Given the description of an element on the screen output the (x, y) to click on. 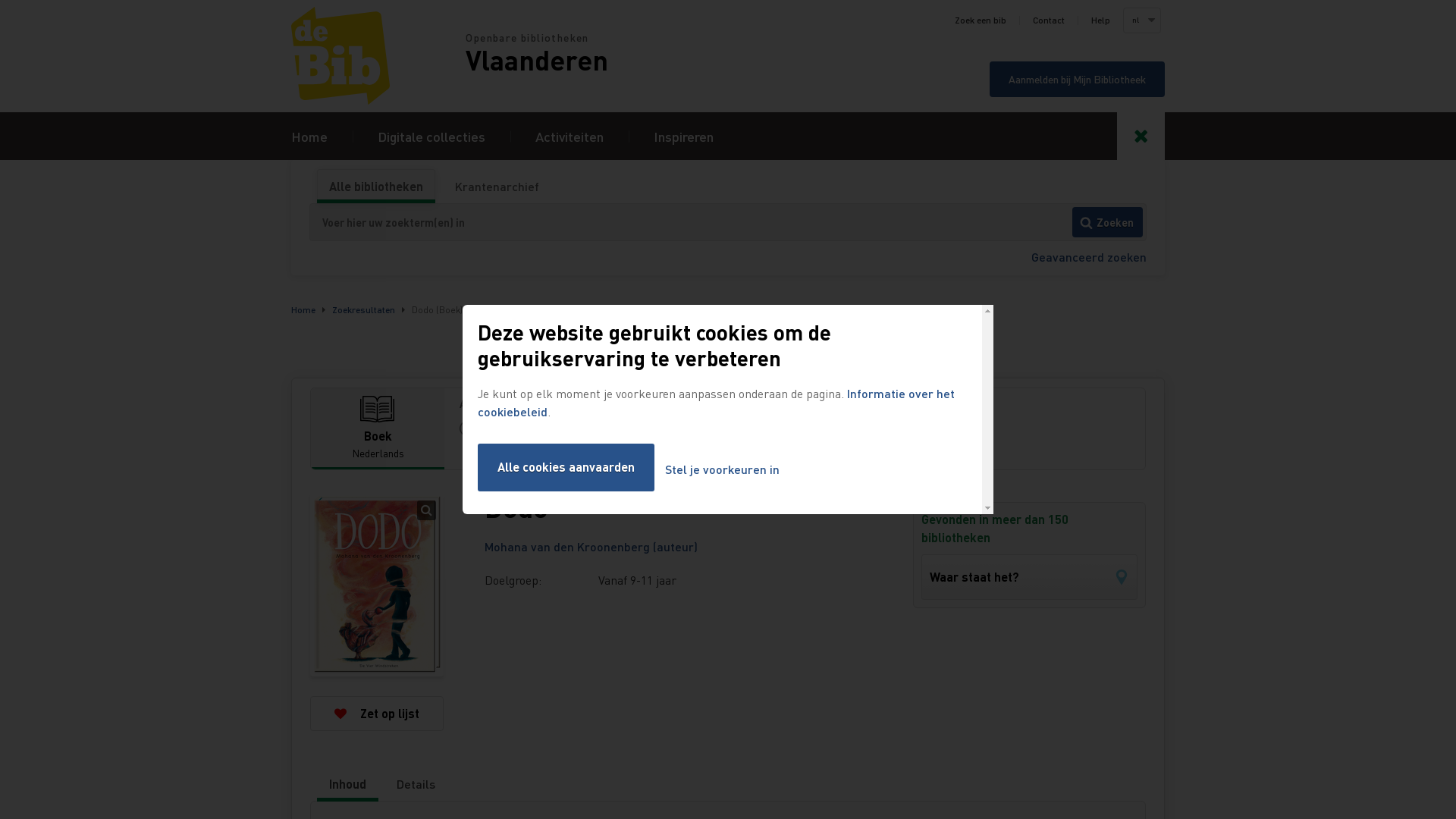
Geavanceerd zoeken Element type: text (1088, 256)
Zet op lijst Element type: text (376, 713)
Alle cookies aanvaarden Element type: text (565, 466)
Zoekresultaten Element type: text (363, 309)
Waar staat het? Element type: text (1029, 576)
Activiteiten Element type: text (569, 136)
Aanmelden bij Mijn Bibliotheek Element type: text (1076, 79)
nl Element type: text (1140, 20)
Digitale collecties Element type: text (431, 136)
Contact Element type: text (1048, 20)
Mohana van den Kroonenberg (auteur) Element type: text (590, 546)
Daisy Element type: text (496, 452)
Help Element type: text (1100, 20)
Home Element type: text (303, 309)
Home Element type: hover (378, 55)
Inspireren Element type: text (683, 136)
Overslaan en naar zoeken gaan Element type: text (0, 0)
Toggle search Element type: hover (1140, 136)
Andere formaten Element type: text (794, 403)
Zoek een bib Element type: text (980, 20)
Alle bibliotheken Element type: text (375, 186)
Inhoud Element type: text (347, 783)
Zoeken Element type: text (1107, 222)
Details Element type: text (415, 783)
Home Element type: text (309, 136)
Stel je voorkeuren in Element type: text (722, 469)
Krantenarchief Element type: text (496, 186)
Informatie over het cookiebeleid Element type: text (715, 402)
